Given the description of an element on the screen output the (x, y) to click on. 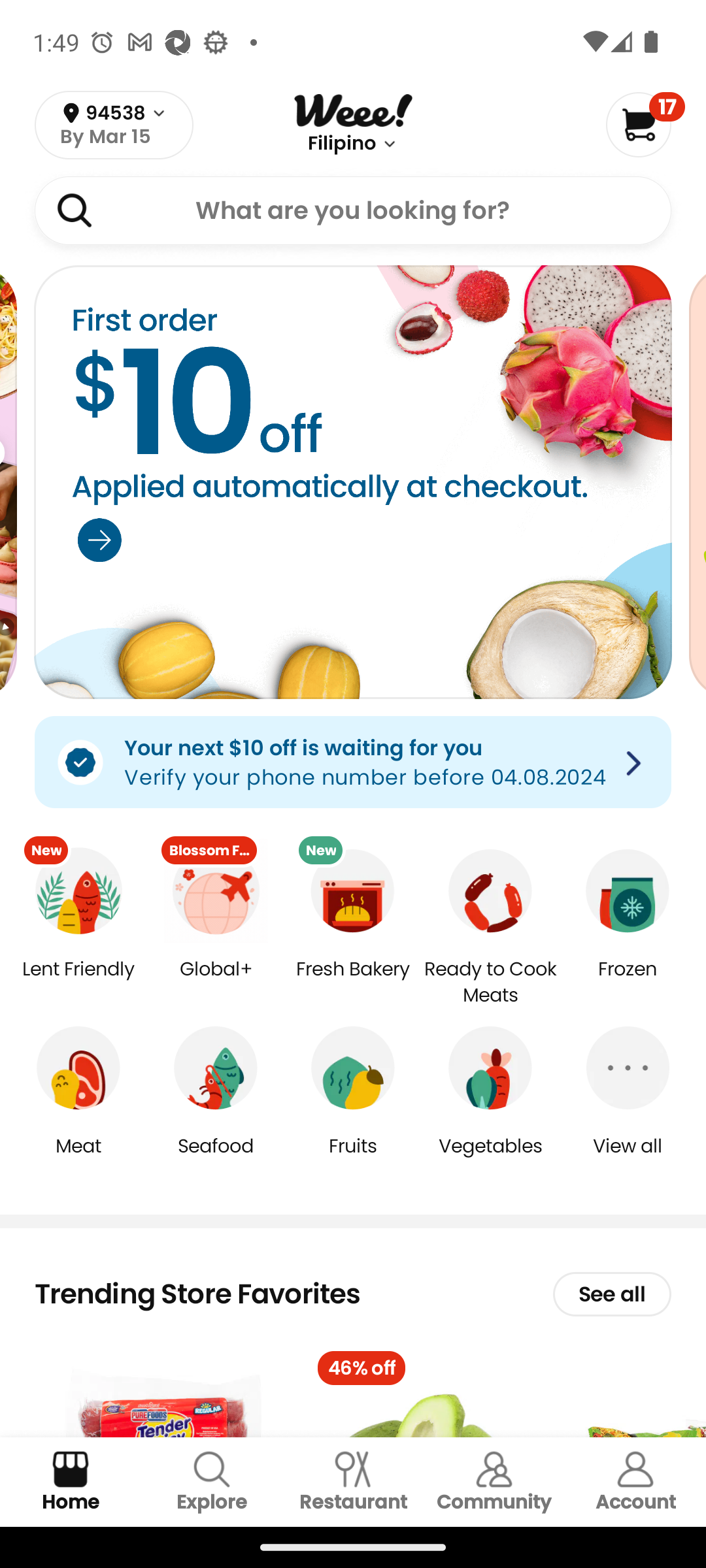
94538 By Mar 15 (113, 124)
17 (644, 124)
Filipino (341, 143)
What are you looking for? (352, 209)
Lent Friendly (77, 982)
Global+ (215, 982)
Fresh Bakery (352, 982)
Ready to Cook Meats (490, 982)
Frozen (627, 982)
Meat (77, 1159)
Seafood (215, 1159)
Fruits (352, 1159)
Vegetables (490, 1159)
View all (627, 1159)
Home (70, 1482)
Explore (211, 1482)
Restaurant (352, 1482)
Community (493, 1482)
Account (635, 1482)
